Given the description of an element on the screen output the (x, y) to click on. 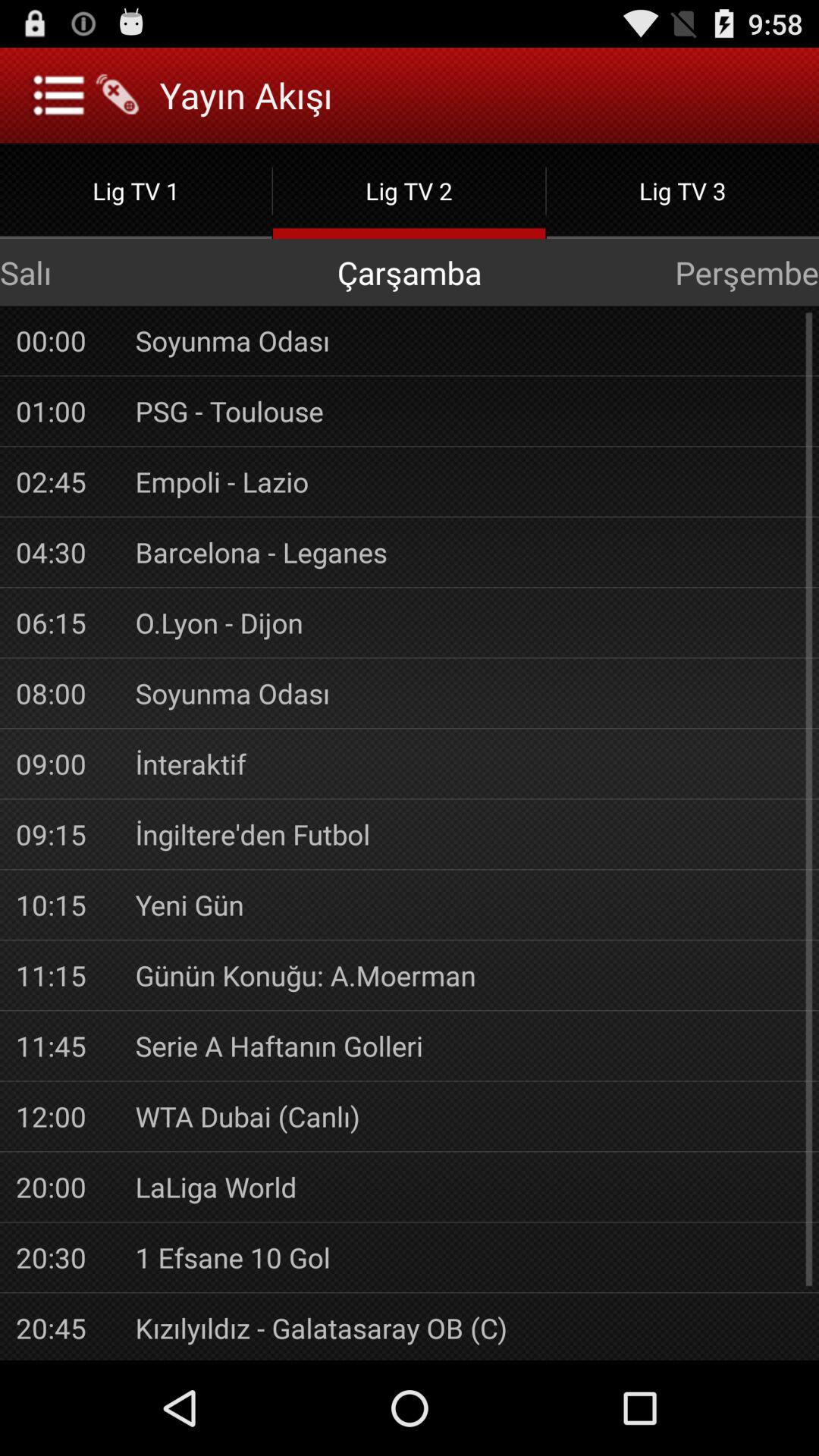
launch the app to the right of 11:15 app (469, 975)
